Given the description of an element on the screen output the (x, y) to click on. 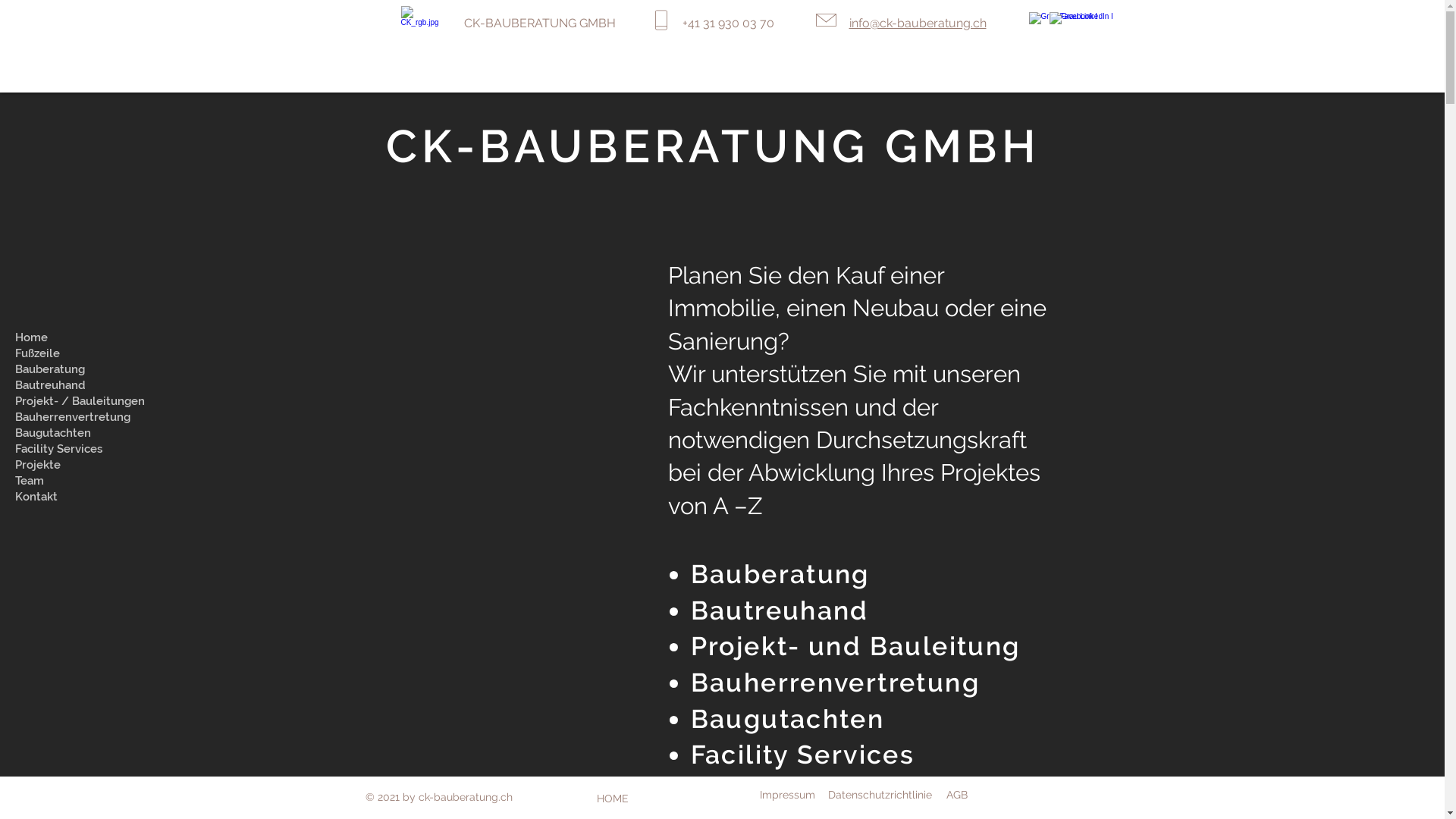
Bauberatung Element type: text (779, 573)
Home Element type: text (83, 337)
Bauberatung Element type: text (83, 369)
Kontakt Element type: text (83, 497)
Bautreuhand Element type: text (83, 385)
info@ck-bauberatung.ch Element type: text (917, 22)
Baugutachten Element type: text (787, 718)
Bautreuhand Element type: text (779, 610)
Projekt- und Bauleitung Element type: text (855, 645)
HOME Element type: text (612, 798)
Impressum Element type: text (787, 794)
Baugutachten Element type: text (83, 433)
Bauherrenvertretung Element type: text (83, 417)
AGB Element type: text (956, 794)
Team Element type: text (83, 481)
Projekt- / Bauleitungen Element type: text (83, 401)
Bauherrenvertretung Element type: text (834, 682)
Facility Services Element type: text (83, 449)
Projekte Element type: text (83, 465)
Facility Services Element type: text (802, 754)
Datenschutzrichtlinie Element type: text (879, 794)
